Given the description of an element on the screen output the (x, y) to click on. 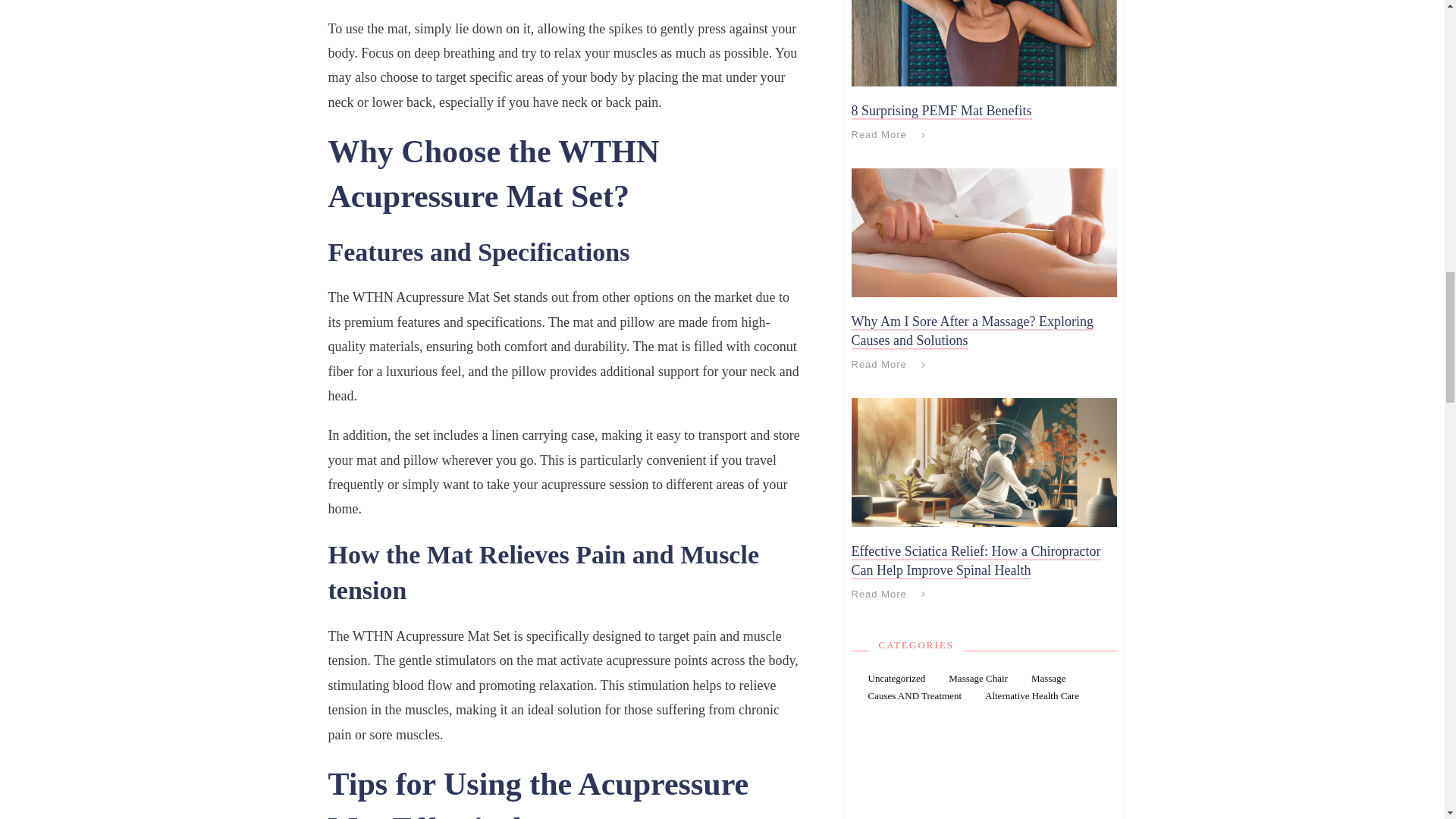
8 Surprising PEMF Mat Benefits (940, 111)
